Given the description of an element on the screen output the (x, y) to click on. 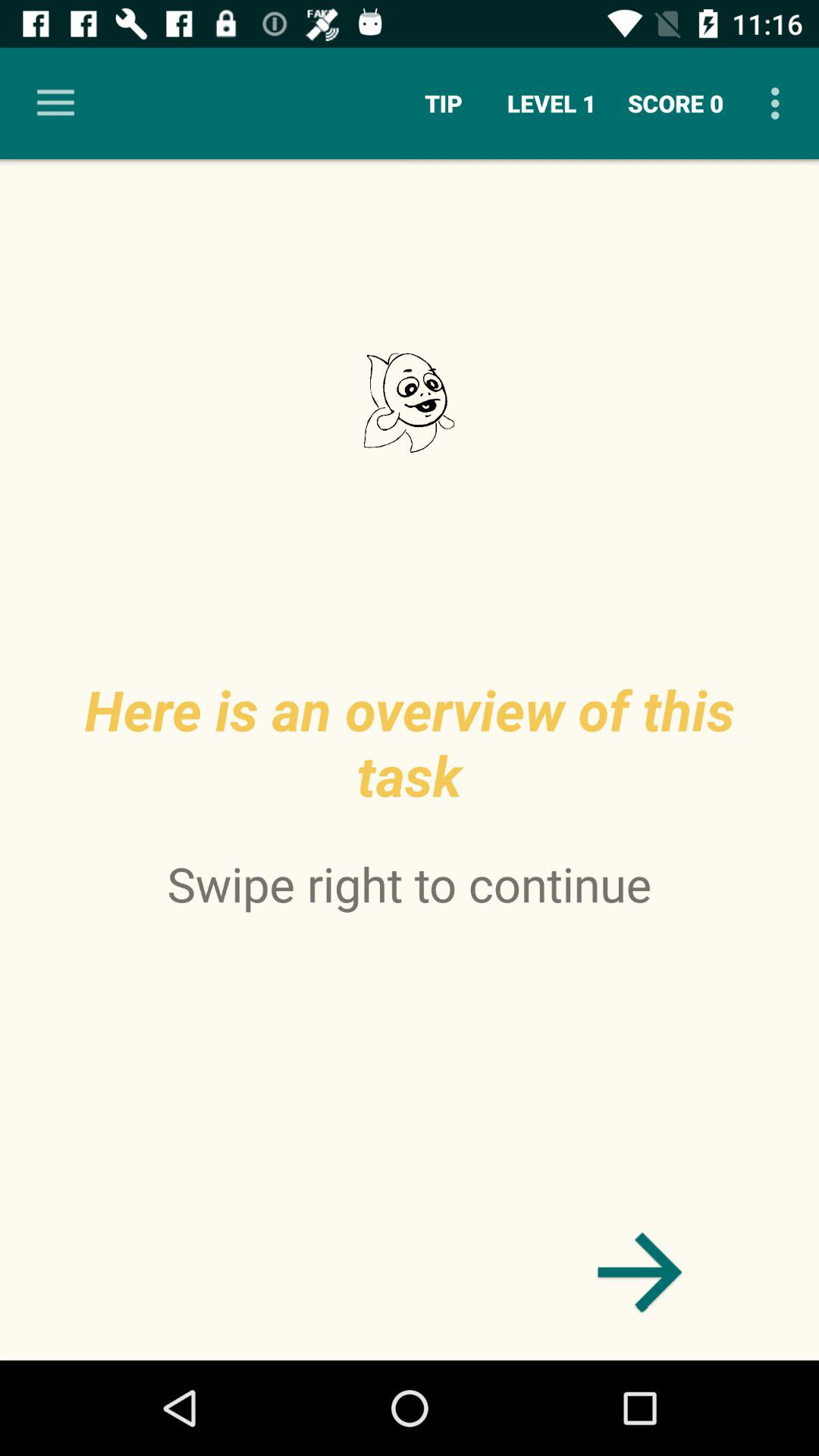
launch the icon next to tip icon (551, 103)
